Given the description of an element on the screen output the (x, y) to click on. 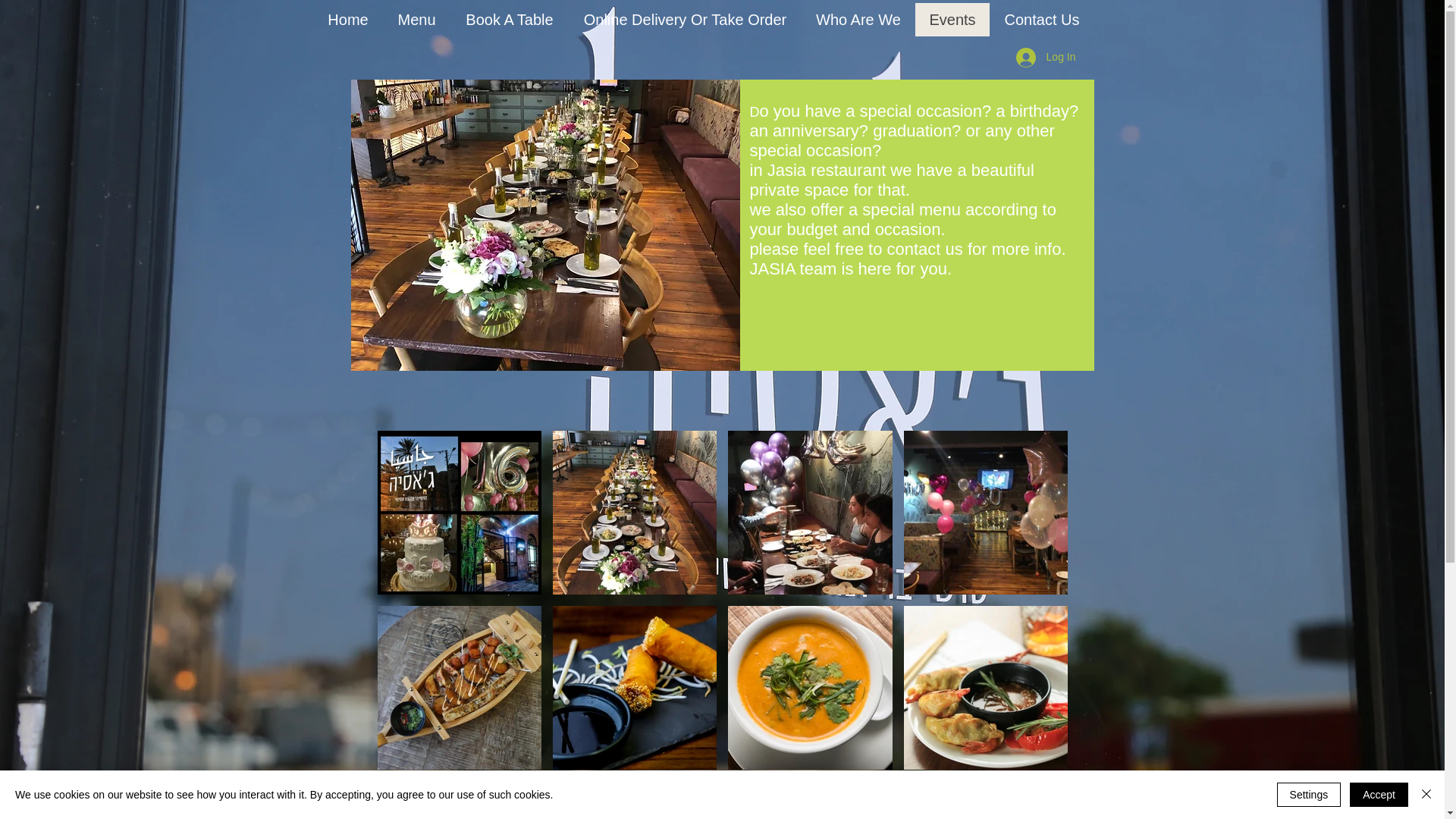
Contact Us (1040, 19)
Book A Table (509, 19)
Settings (1308, 794)
Events (951, 19)
www.jasia.co.il (755, 798)
Log In (1046, 57)
Home (348, 19)
Facebook Like (1131, 17)
Online Delivery Or Take Order (685, 19)
Menu (415, 19)
